Given the description of an element on the screen output the (x, y) to click on. 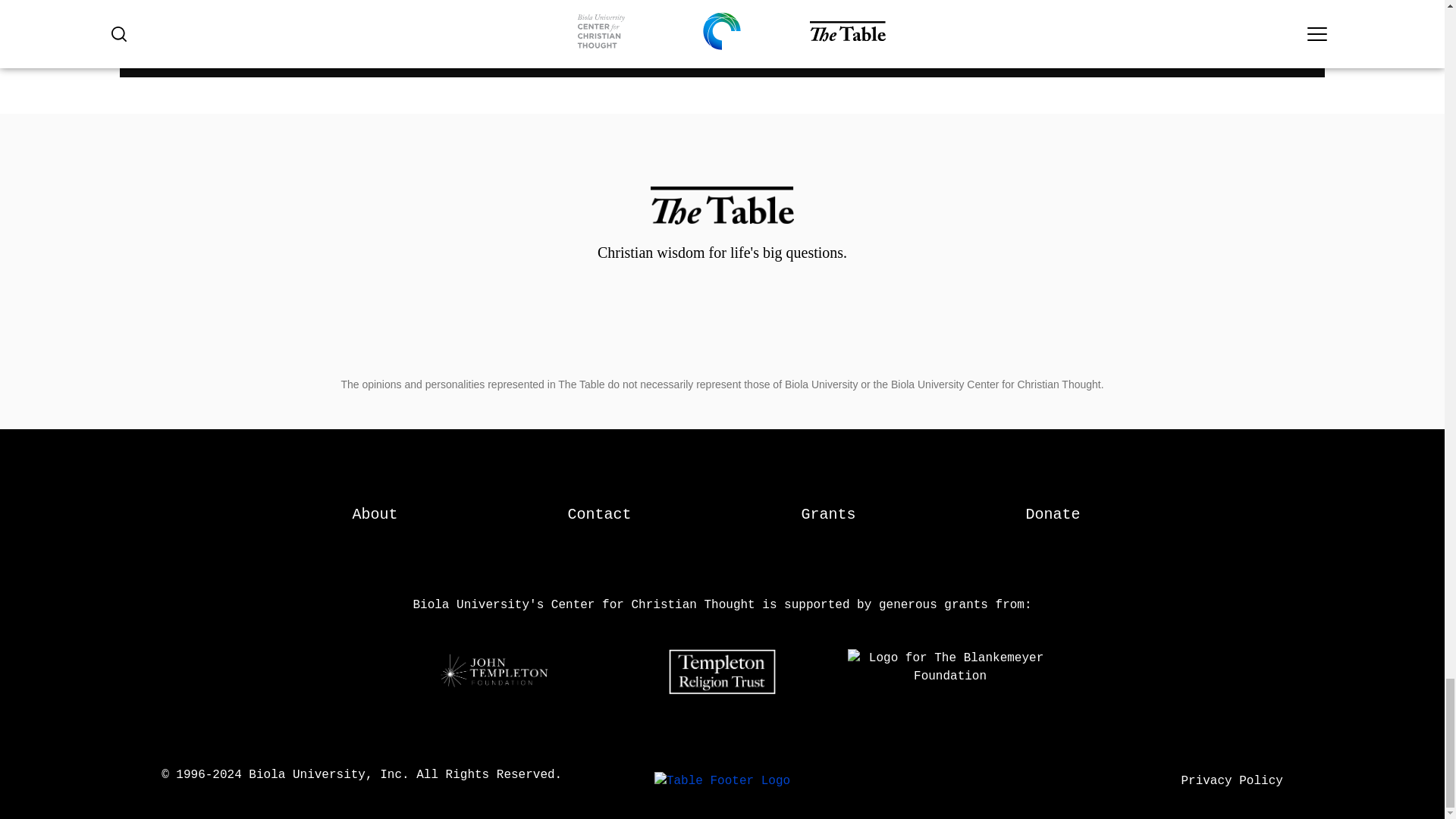
Biola University Center for Christian Thought (721, 780)
Go to page Grants (828, 514)
Contact (599, 514)
About (374, 514)
Go to page About (374, 514)
Go to page Donate (1052, 514)
Go to page Contact (599, 514)
